Given the description of an element on the screen output the (x, y) to click on. 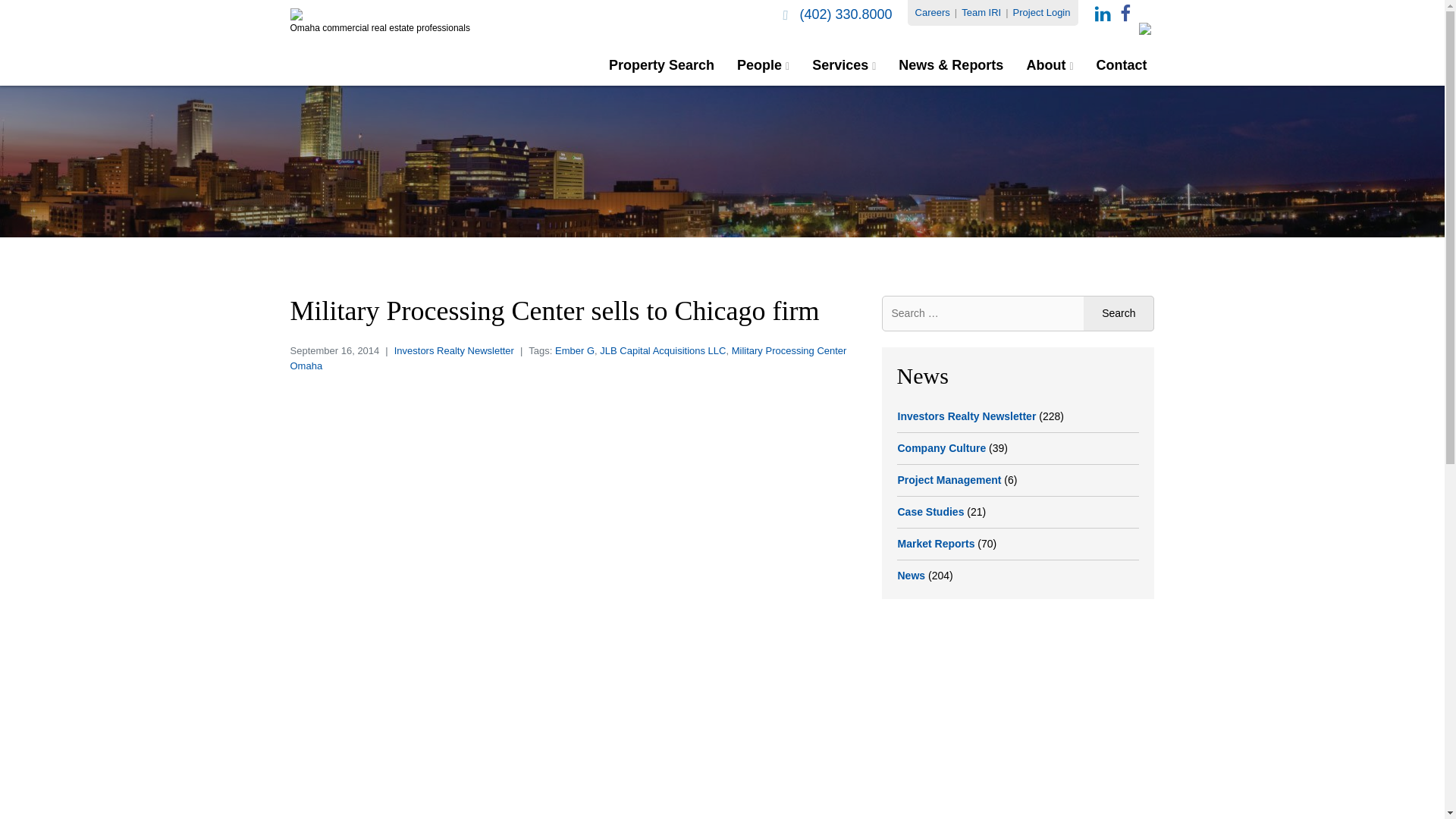
Military Processing Center Omaha (567, 357)
Search (1118, 313)
Investors Realty Newsletter (453, 350)
Property Search (661, 65)
Contact (1121, 65)
Services (844, 65)
Careers (932, 12)
Team IRI (980, 12)
Project Login (1041, 12)
JLB Capital Acquisitions LLC (662, 350)
About (1048, 65)
Ember G (574, 350)
People (762, 65)
Search (1118, 313)
